Given the description of an element on the screen output the (x, y) to click on. 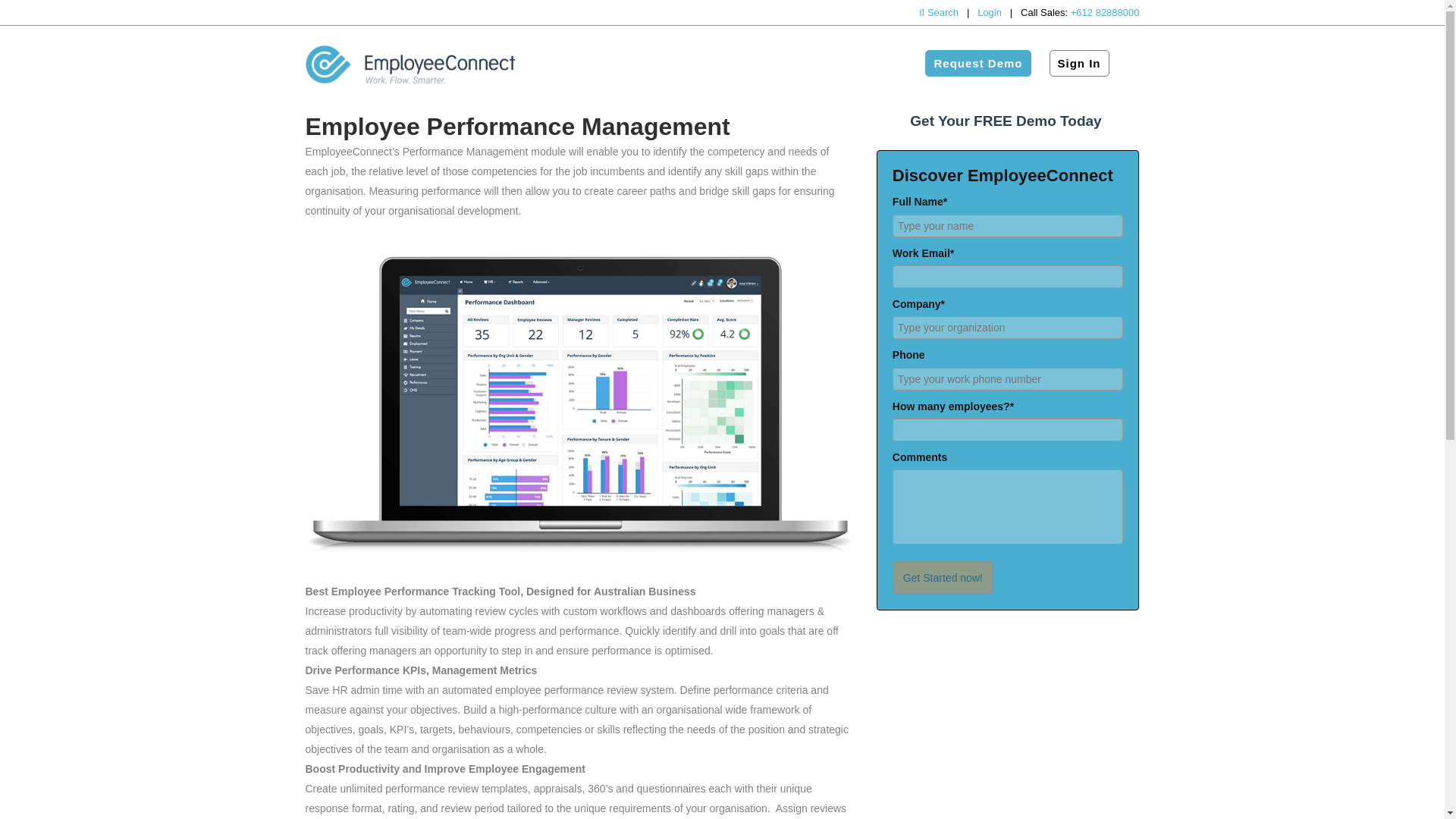
Search (939, 12)
Modules (600, 63)
Solutions (672, 63)
Login (988, 12)
